Given the description of an element on the screen output the (x, y) to click on. 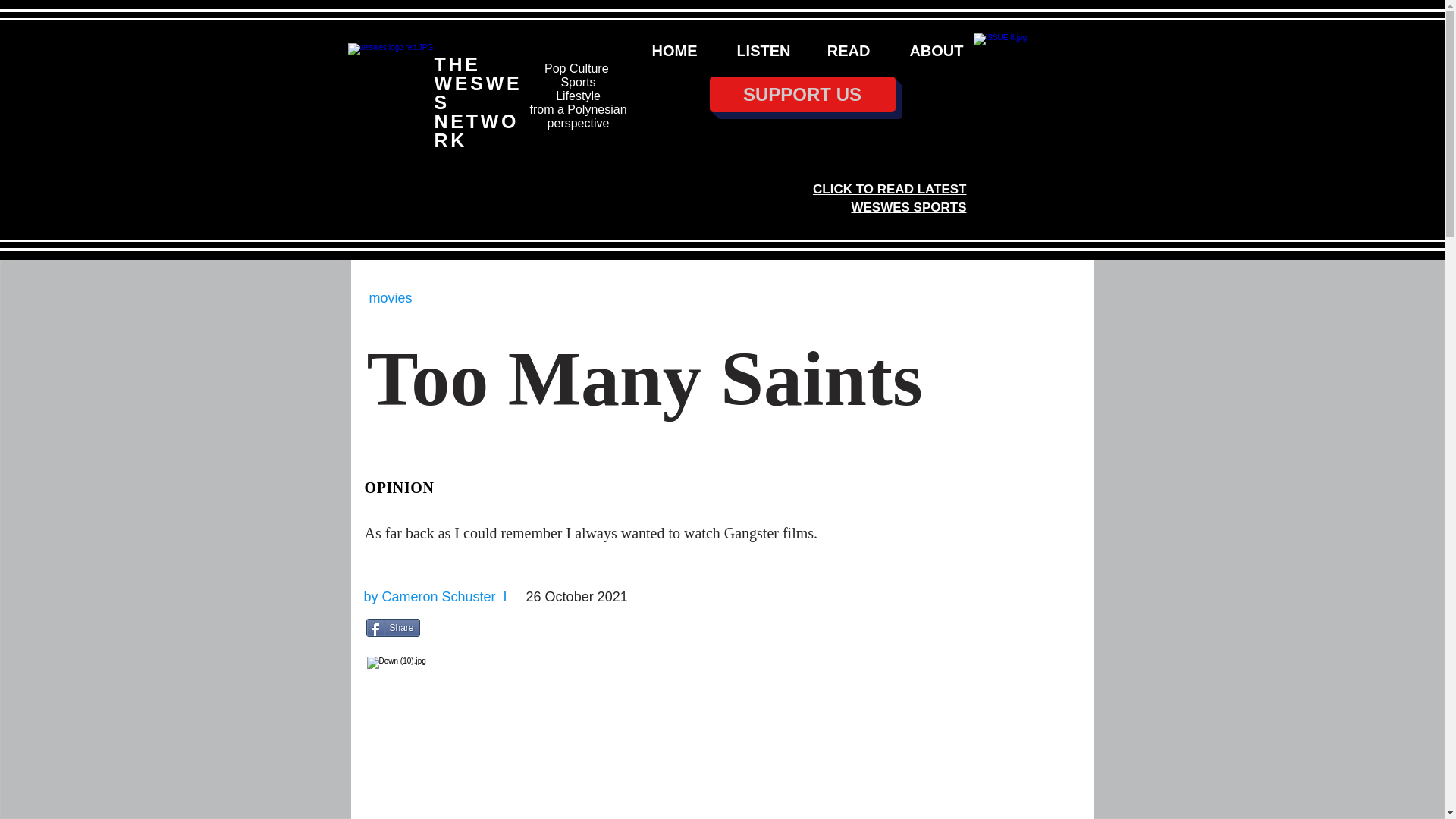
WESWES (477, 92)
READ (842, 50)
HOME (666, 50)
NETWORK (475, 130)
THE (456, 64)
Twitter Tweet (458, 628)
Share (392, 628)
LISTEN (754, 50)
